Given the description of an element on the screen output the (x, y) to click on. 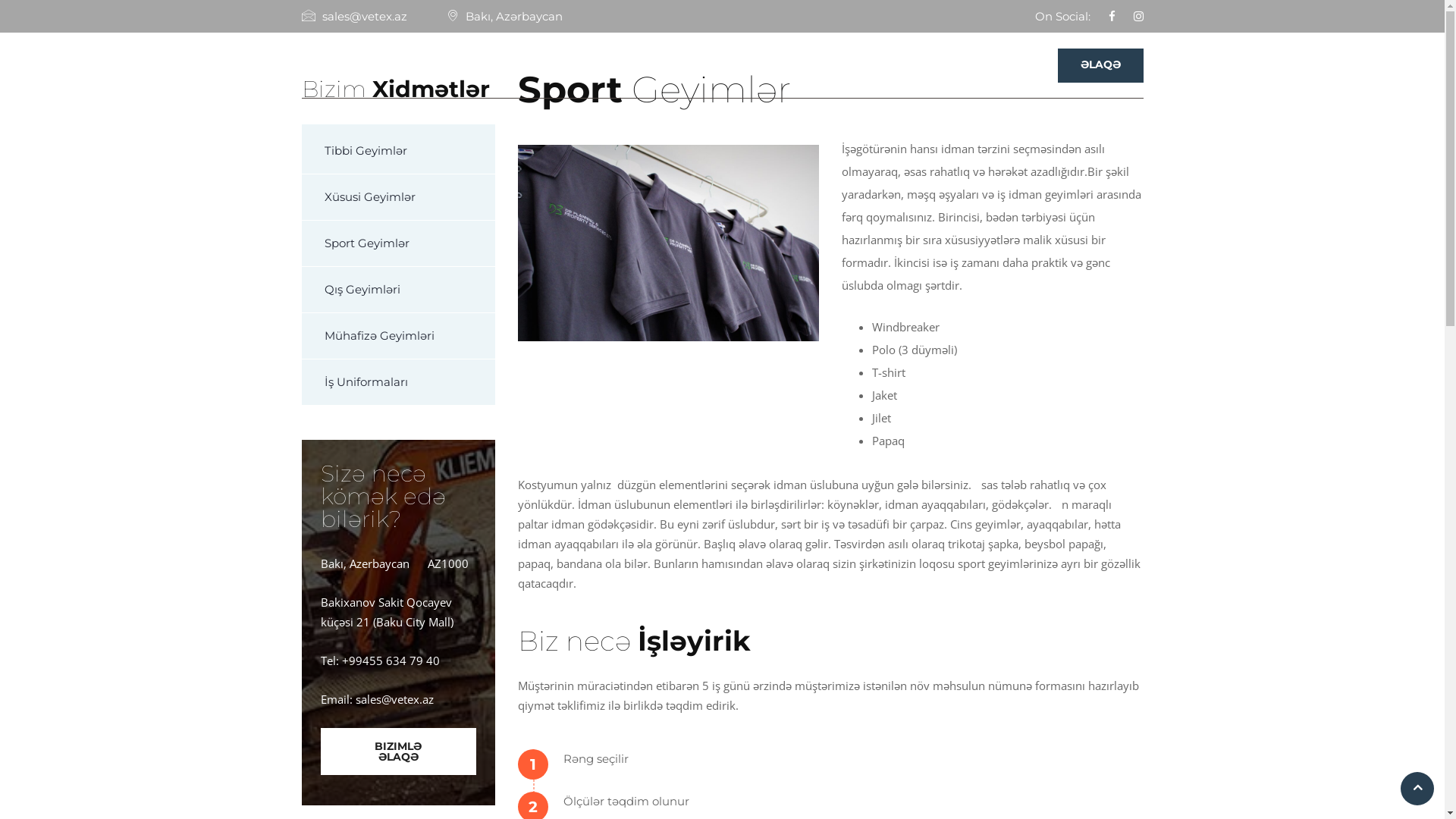
HAQQIMIZDA Element type: text (767, 64)
